Given the description of an element on the screen output the (x, y) to click on. 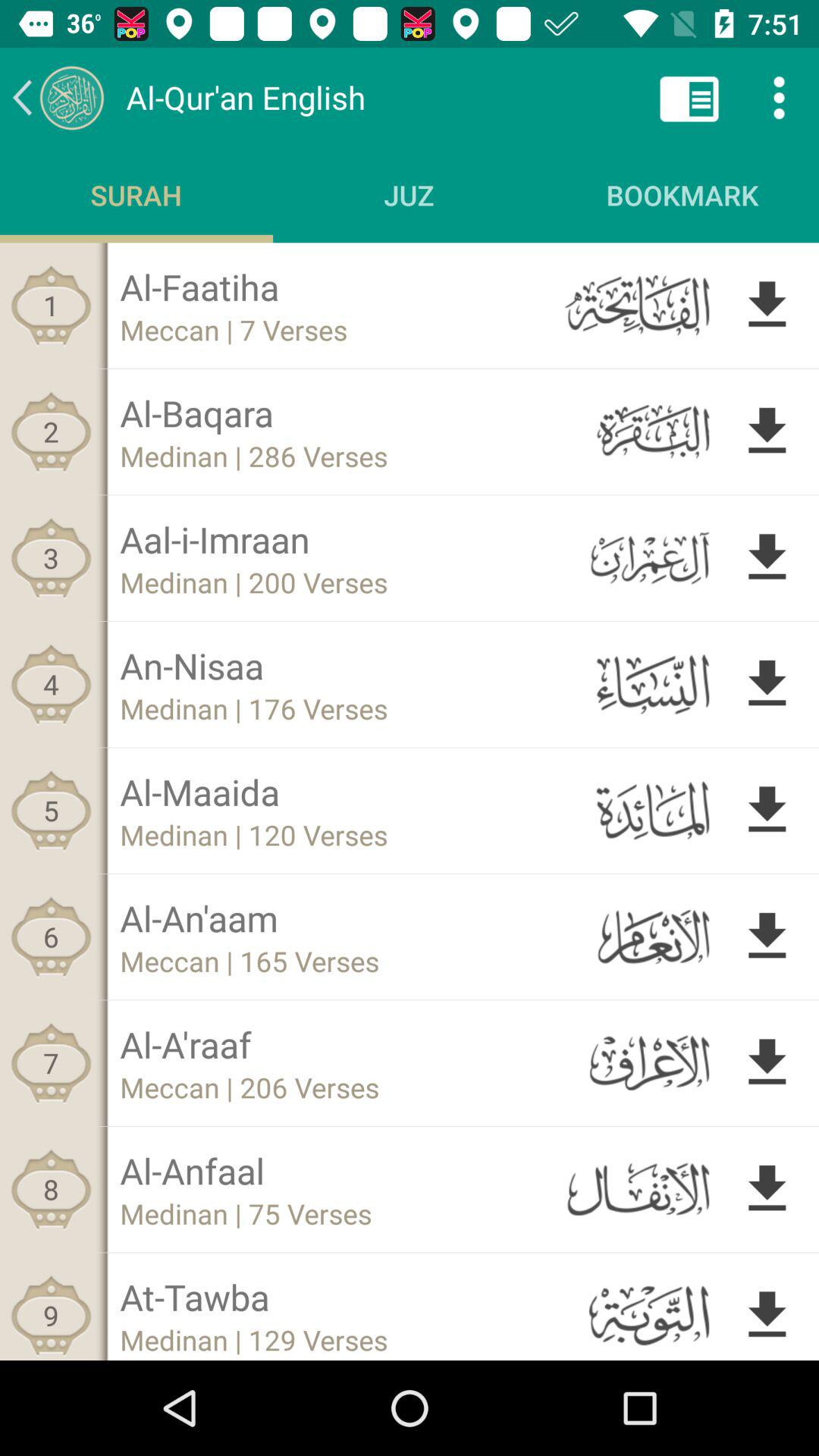
download button (767, 431)
